Given the description of an element on the screen output the (x, y) to click on. 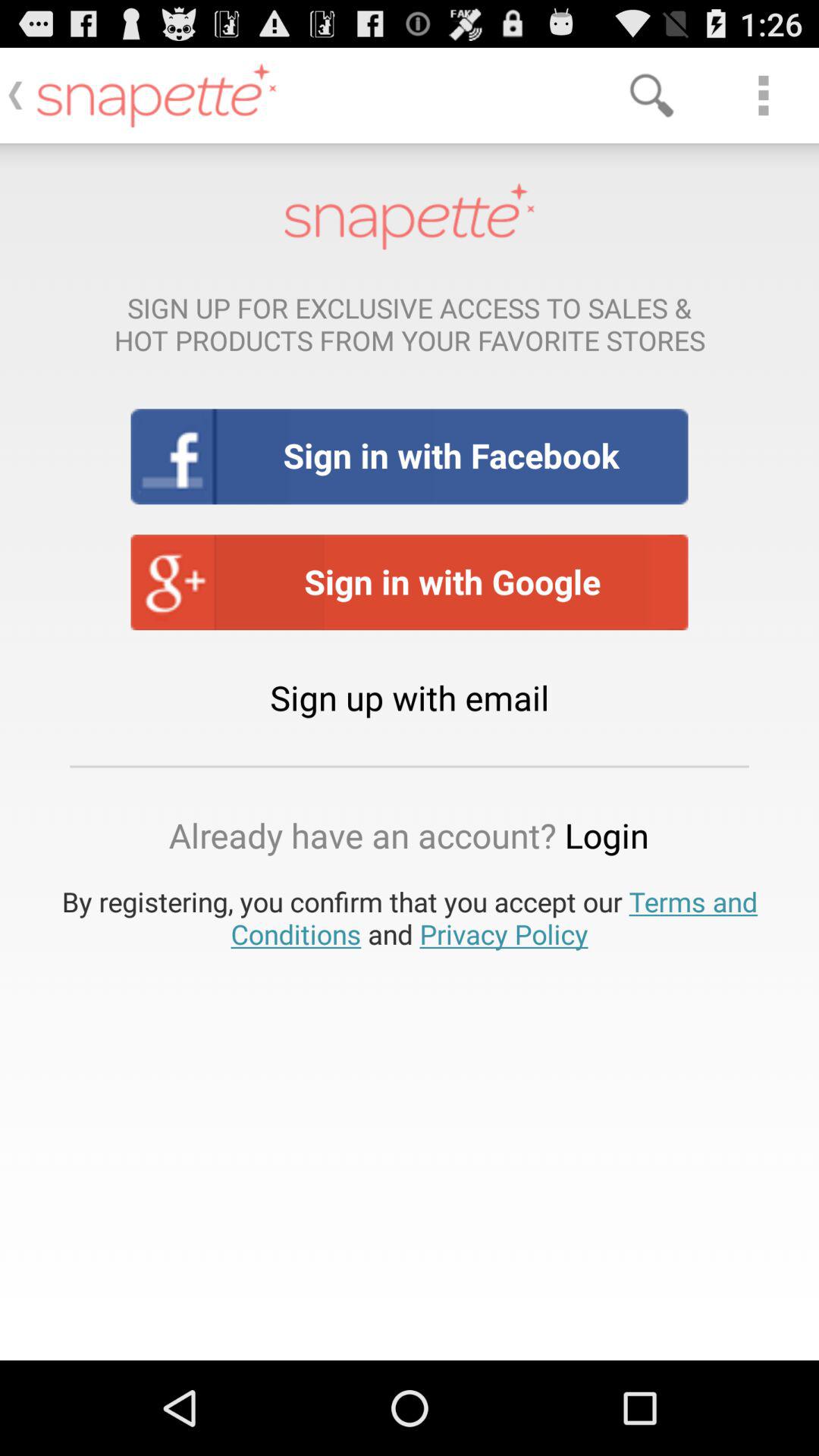
open the item above by registering you icon (408, 835)
